Given the description of an element on the screen output the (x, y) to click on. 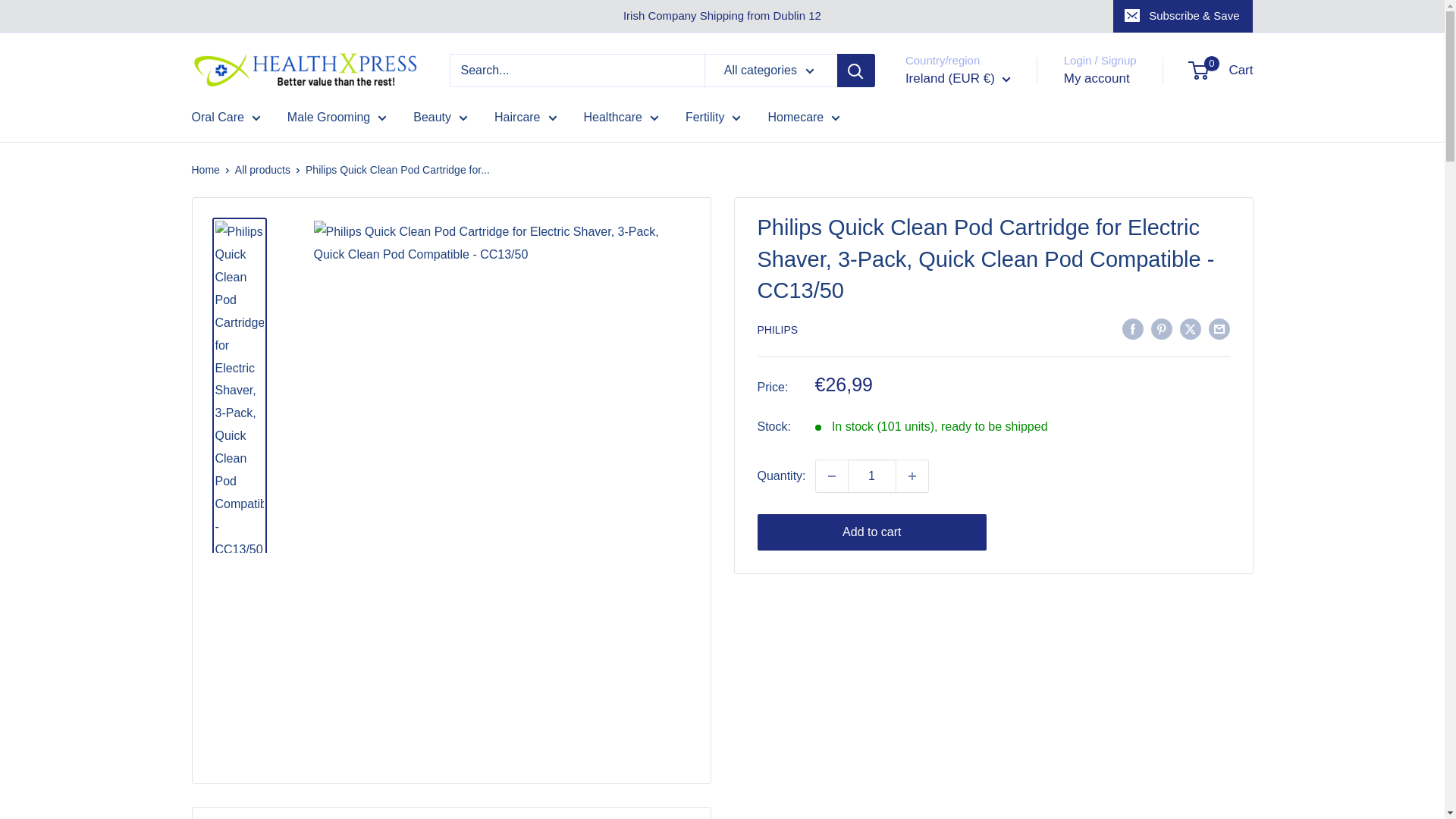
1 (871, 476)
Decrease quantity by 1 (831, 476)
Increase quantity by 1 (912, 476)
